Given the description of an element on the screen output the (x, y) to click on. 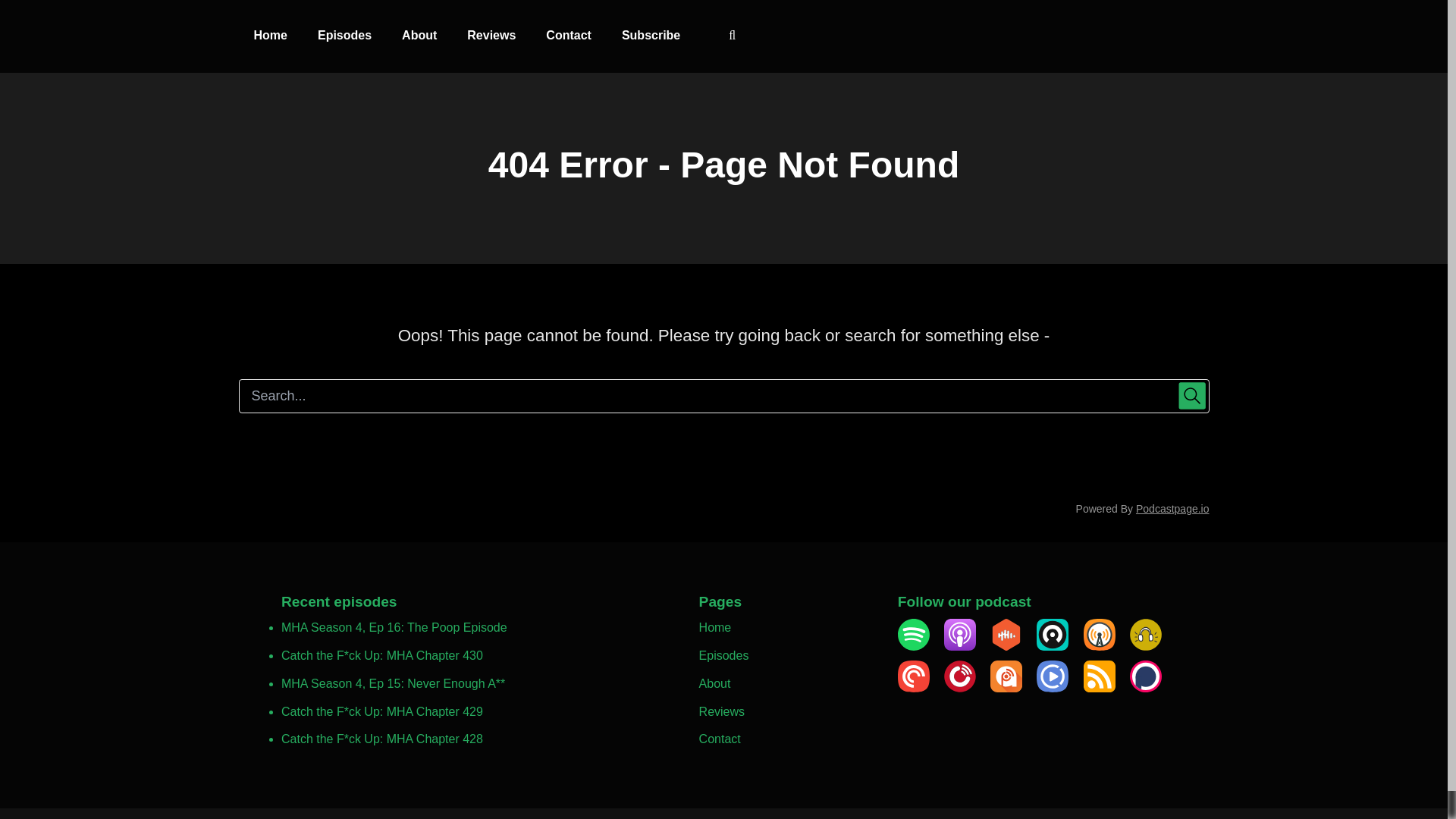
Powered By Podcastpage.io (1142, 508)
Contact (719, 738)
Podcast Republic (1052, 687)
Spotify (914, 645)
MHA Season 4, Ep 16: The Poop Episode (393, 626)
Overcast (1099, 645)
Podcast Addict (1006, 687)
Reviews (491, 36)
Home (715, 626)
Apple Podcasts (959, 645)
